Given the description of an element on the screen output the (x, y) to click on. 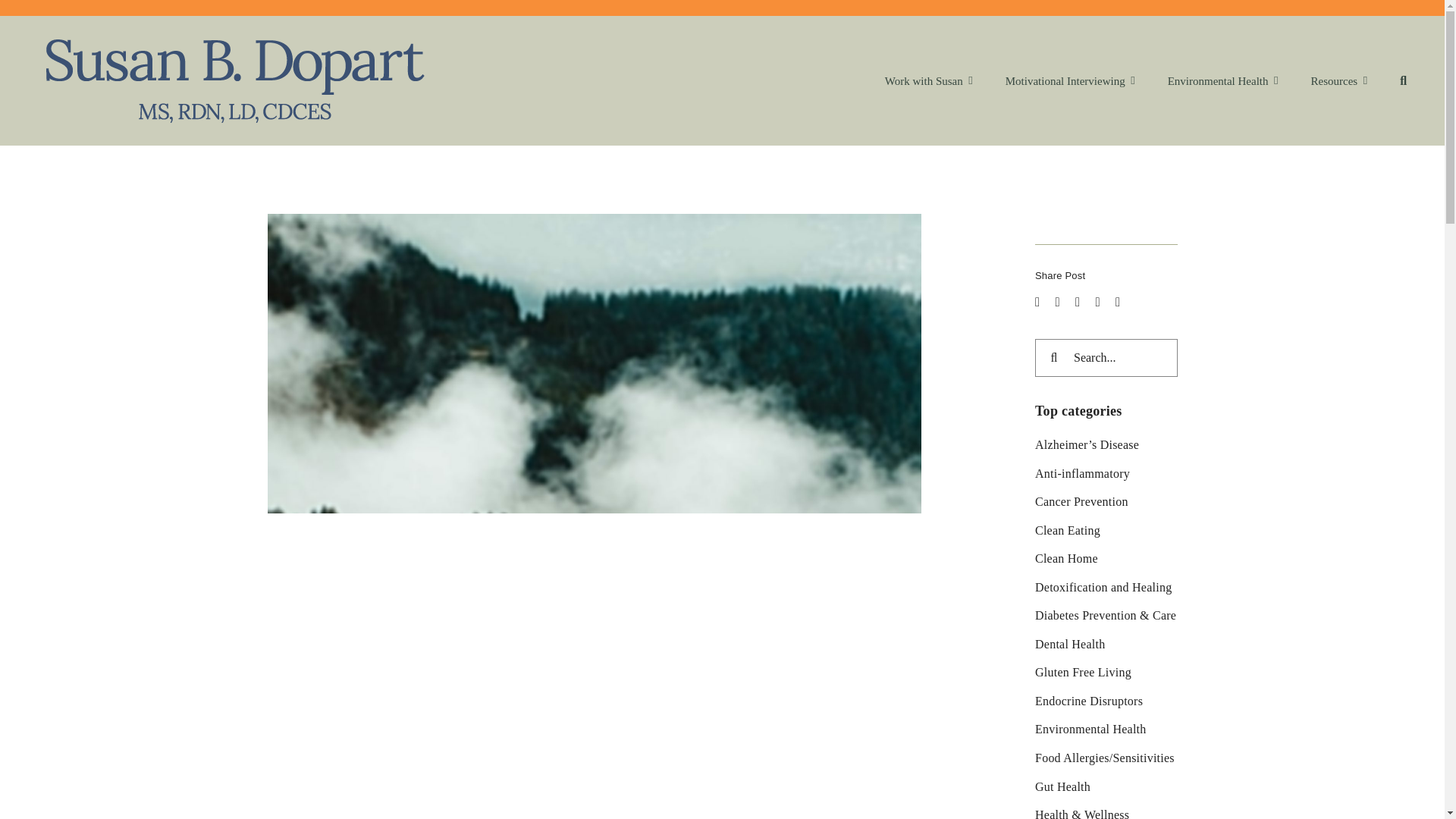
Resources (1339, 81)
Environmental Health (1222, 81)
Motivational Interviewing (1070, 81)
Work with Susan (928, 81)
